Given the description of an element on the screen output the (x, y) to click on. 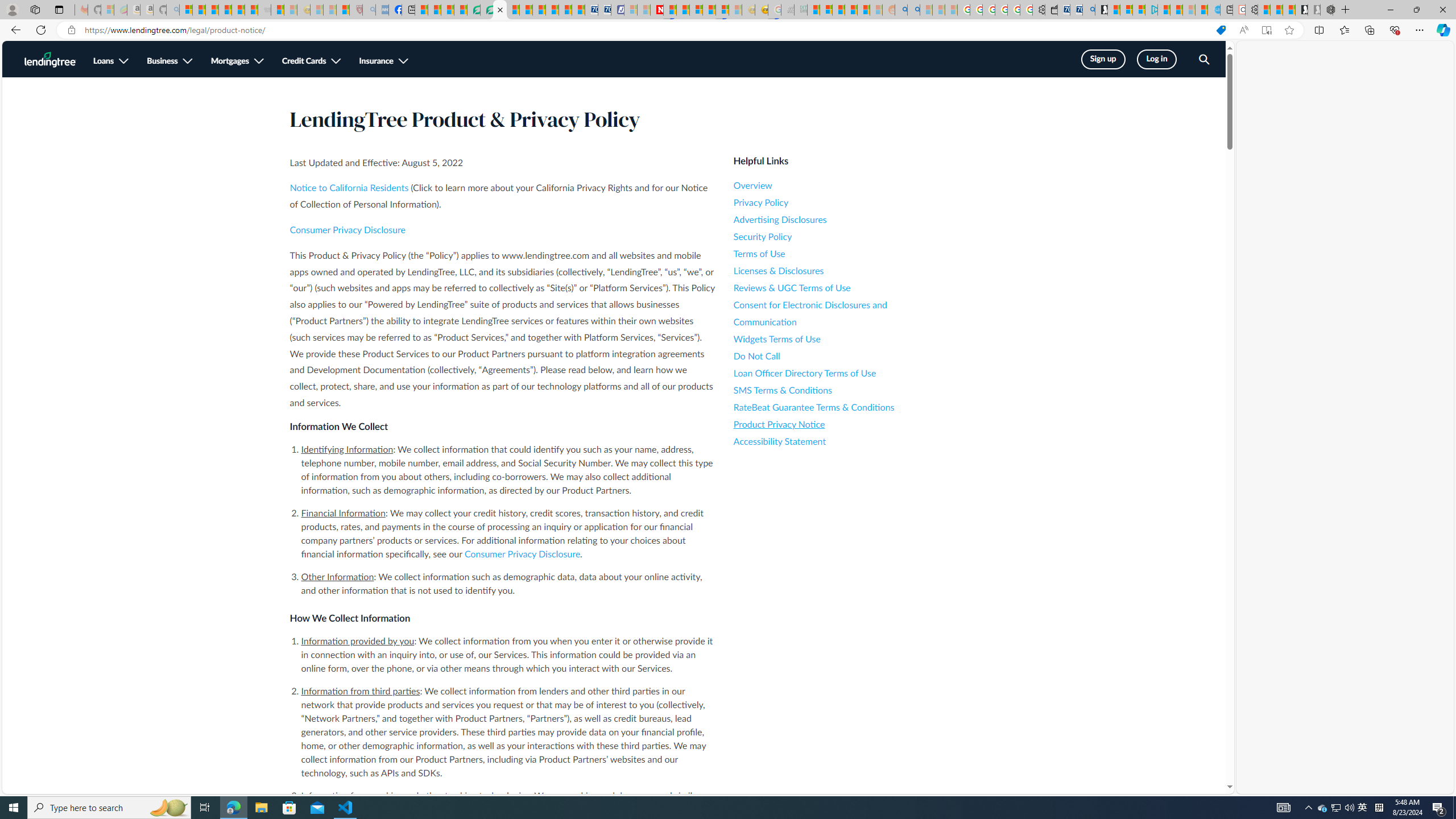
Advertising Disclosures (836, 219)
Mortgages, see more (237, 61)
Security Policy (836, 236)
